Given the description of an element on the screen output the (x, y) to click on. 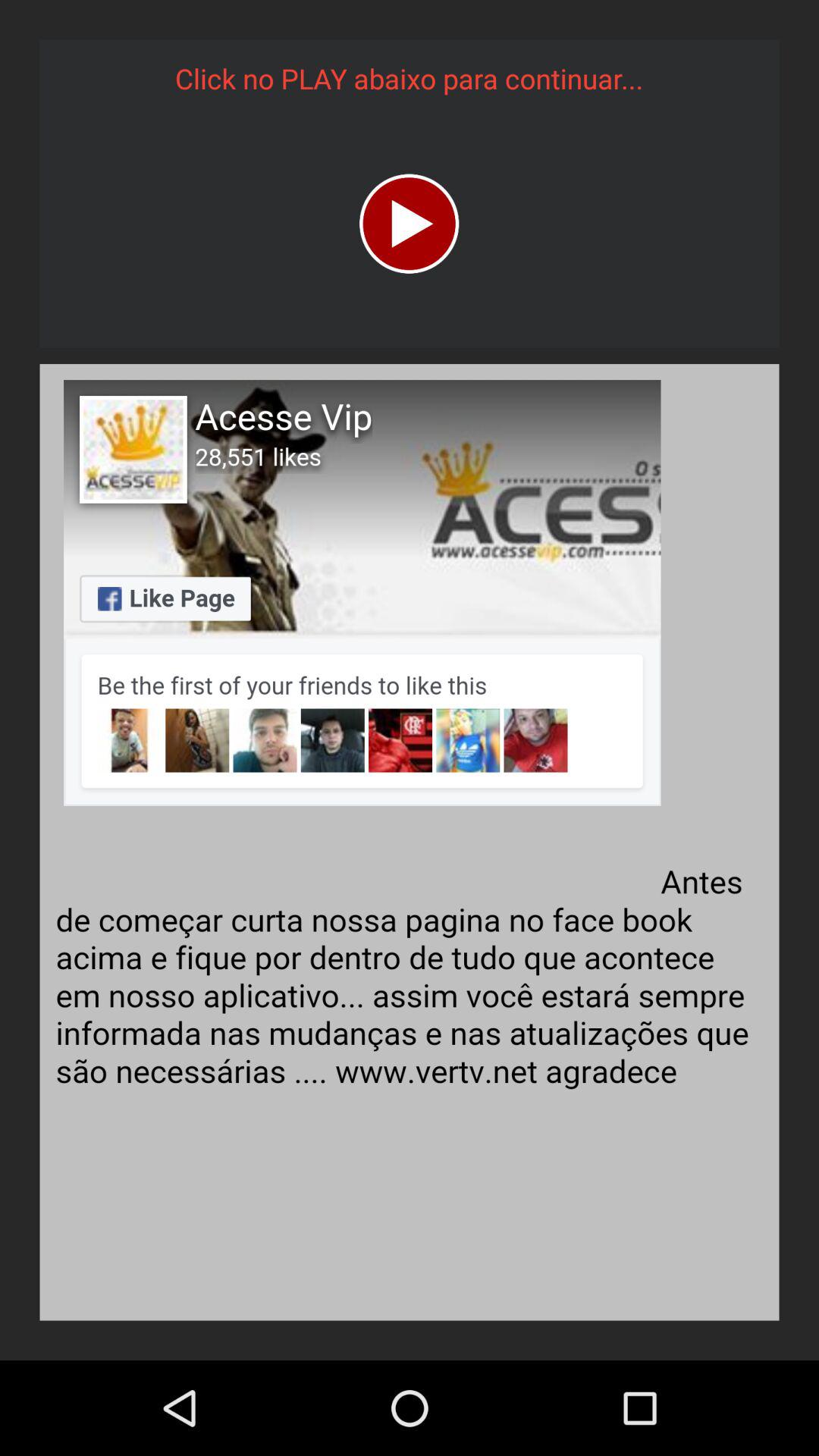
play button (408, 223)
